Given the description of an element on the screen output the (x, y) to click on. 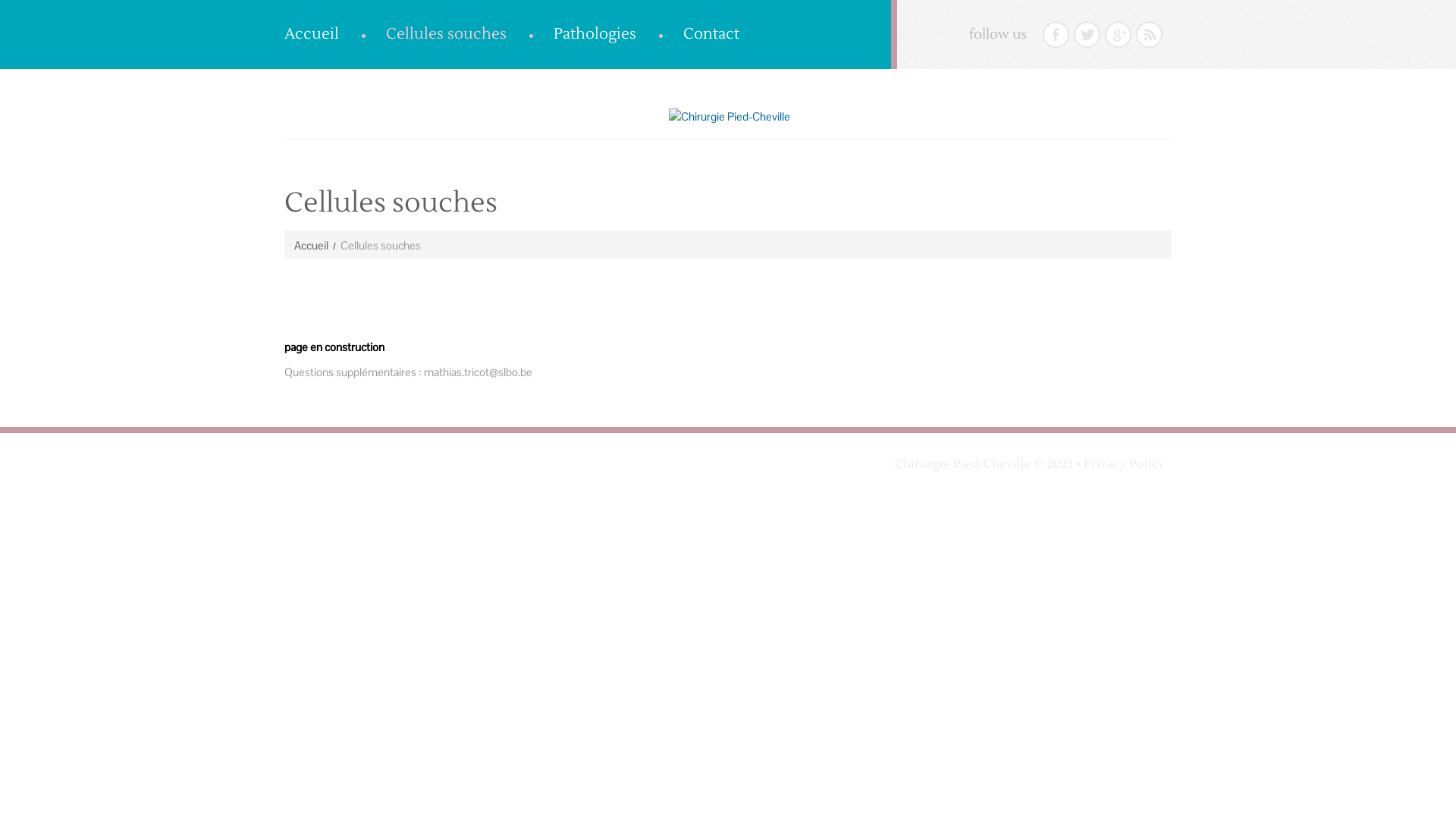
twitter Element type: hover (1086, 34)
facebook Element type: hover (1055, 34)
Chirurgie Pied-Cheville Element type: text (962, 463)
Privacy Policy Element type: text (1123, 463)
Accueil Element type: text (311, 245)
google Element type: hover (1117, 34)
Cellules souches Element type: text (445, 34)
feed Element type: hover (1148, 34)
Pathologies Element type: text (594, 34)
Contact Element type: text (711, 34)
Accueil Element type: text (311, 34)
